Given the description of an element on the screen output the (x, y) to click on. 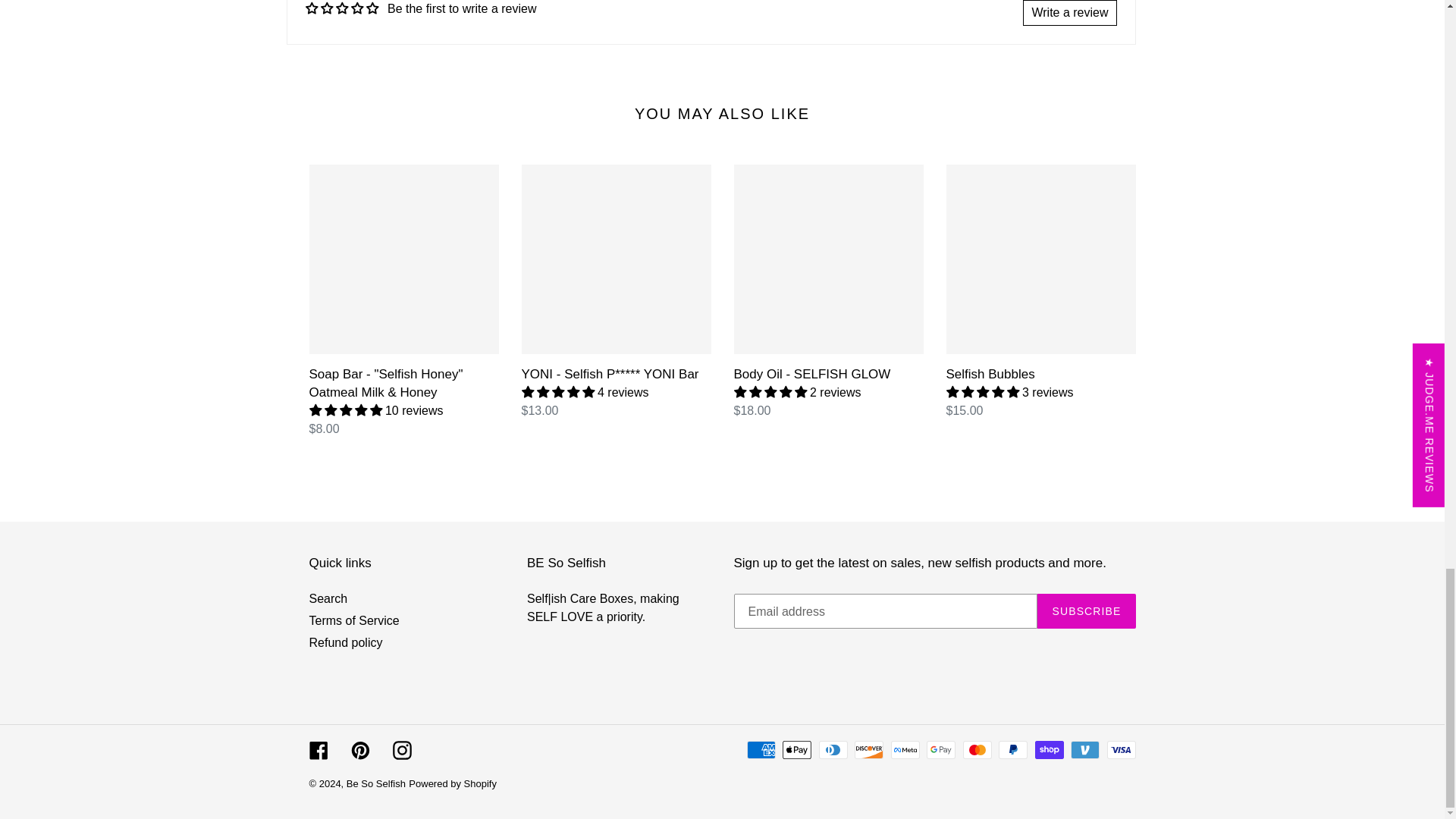
Refund policy (345, 642)
Pinterest (359, 749)
Selfish Bubbles (1040, 291)
Search (327, 598)
Write a review (1069, 12)
Instagram (402, 749)
Body Oil - SELFISH GLOW (828, 291)
SUBSCRIBE (1085, 610)
Terms of Service (353, 620)
Facebook (318, 749)
Be So Selfish (376, 783)
Powered by Shopify (452, 783)
